Given the description of an element on the screen output the (x, y) to click on. 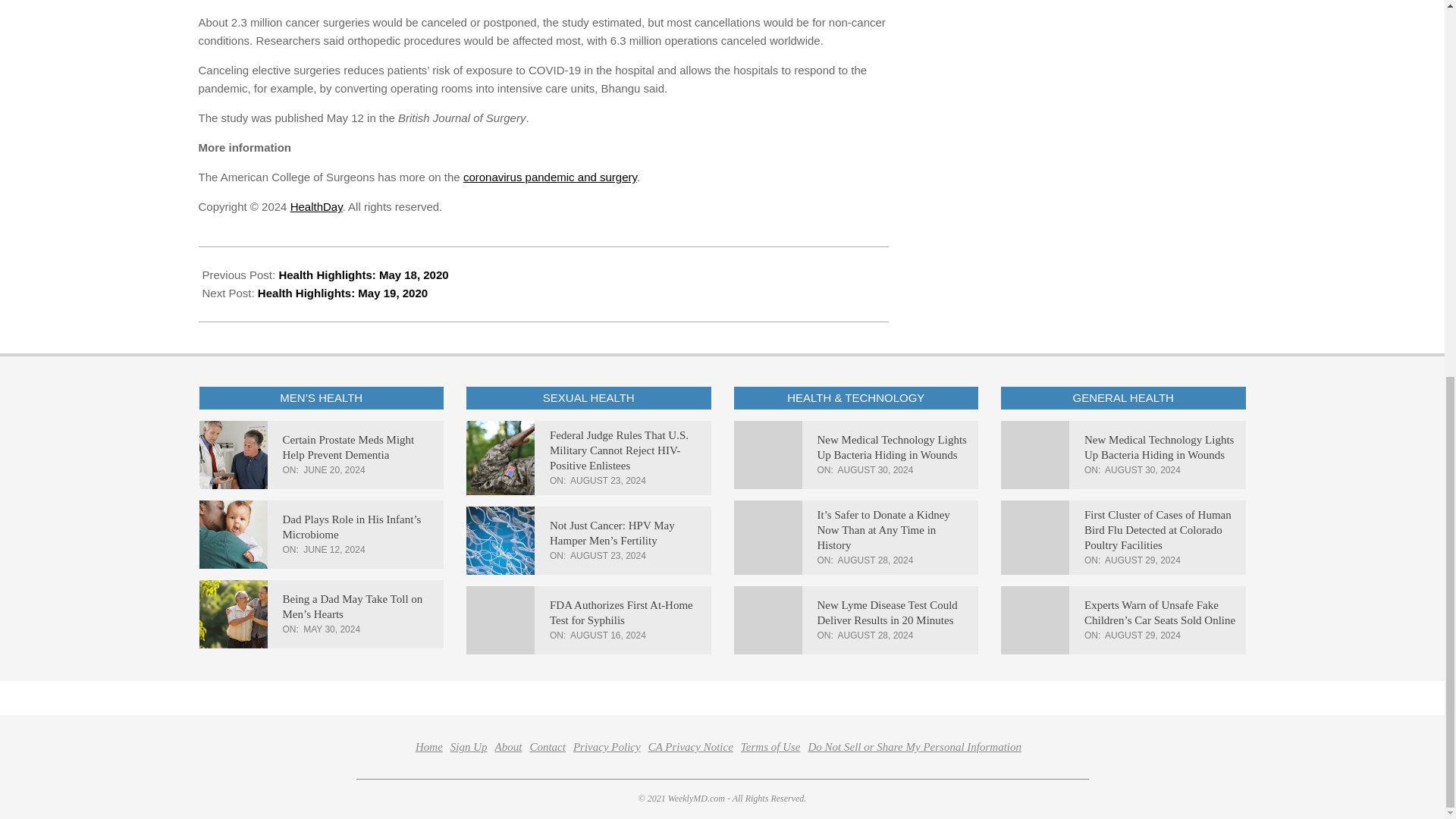
Thursday, August 29, 2024, 5:00 pm (1142, 560)
Thursday, May 30, 2024, 10:11 am (330, 629)
Wednesday, August 28, 2024, 9:58 am (876, 634)
Friday, August 16, 2024, 4:26 pm (608, 634)
Friday, August 30, 2024, 10:00 am (1142, 470)
HealthDay (315, 205)
Thursday, June 20, 2024, 9:49 am (333, 470)
Friday, August 23, 2024, 9:39 am (608, 555)
Friday, August 30, 2024, 10:00 am (876, 470)
Wednesday, June 12, 2024, 3:00 pm (333, 549)
